Given the description of an element on the screen output the (x, y) to click on. 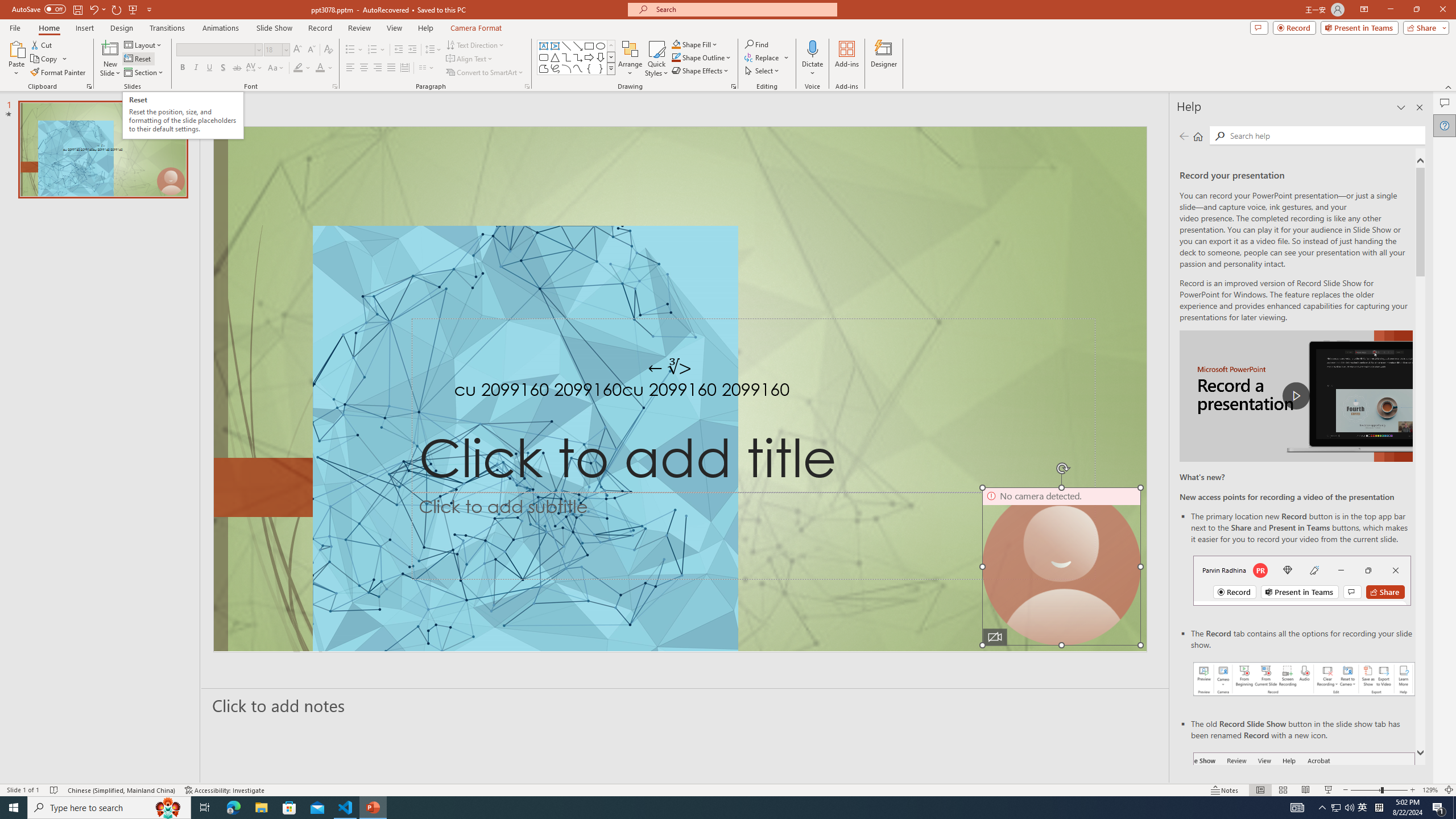
Curve (577, 68)
Center (363, 67)
Row Down (611, 56)
Underline (209, 67)
Search (1219, 136)
Rectangle: Rounded Corners (543, 57)
Shapes (611, 68)
An abstract genetic concept (680, 388)
Oval (600, 45)
